Given the description of an element on the screen output the (x, y) to click on. 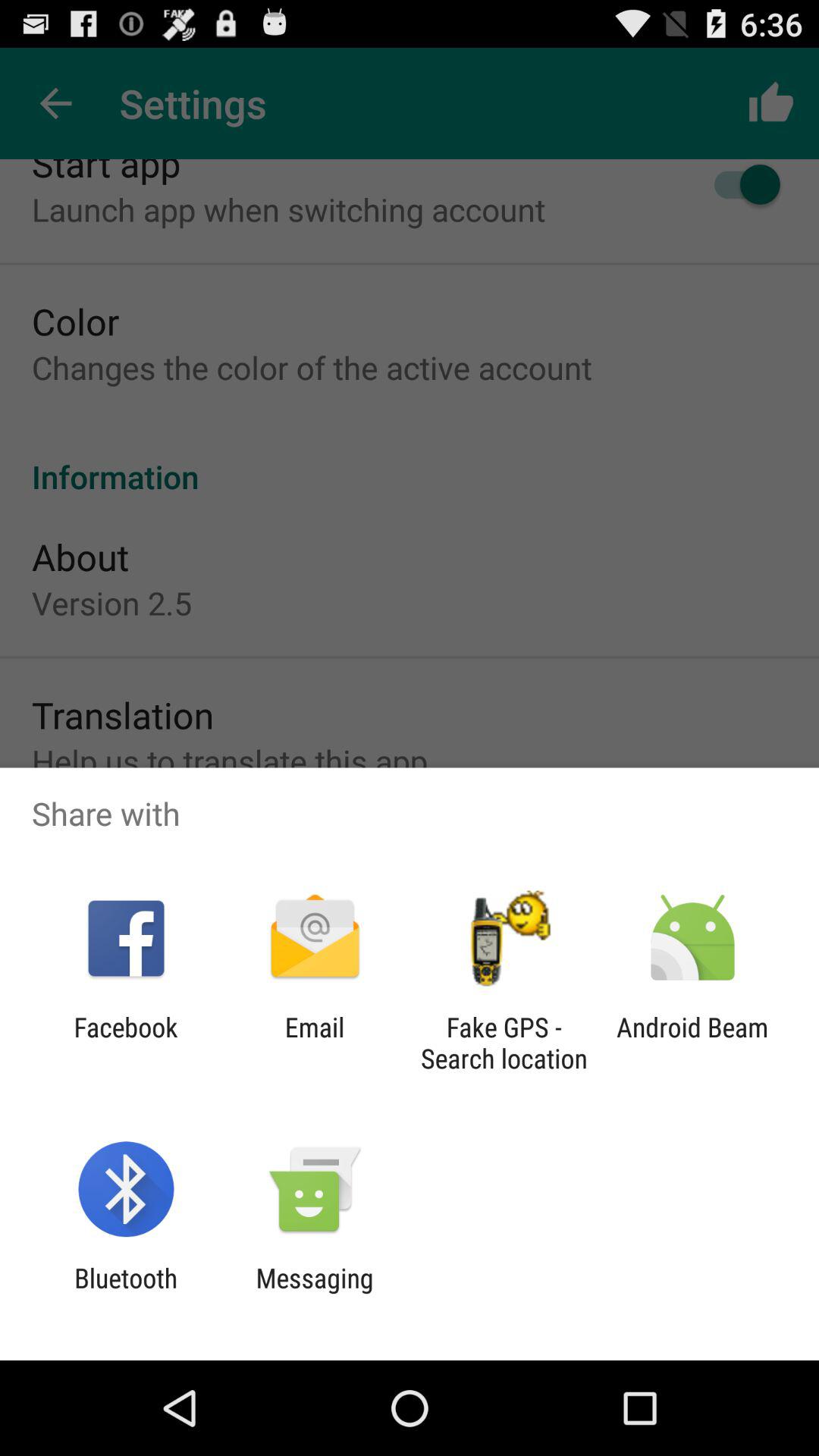
click the messaging item (314, 1293)
